Given the description of an element on the screen output the (x, y) to click on. 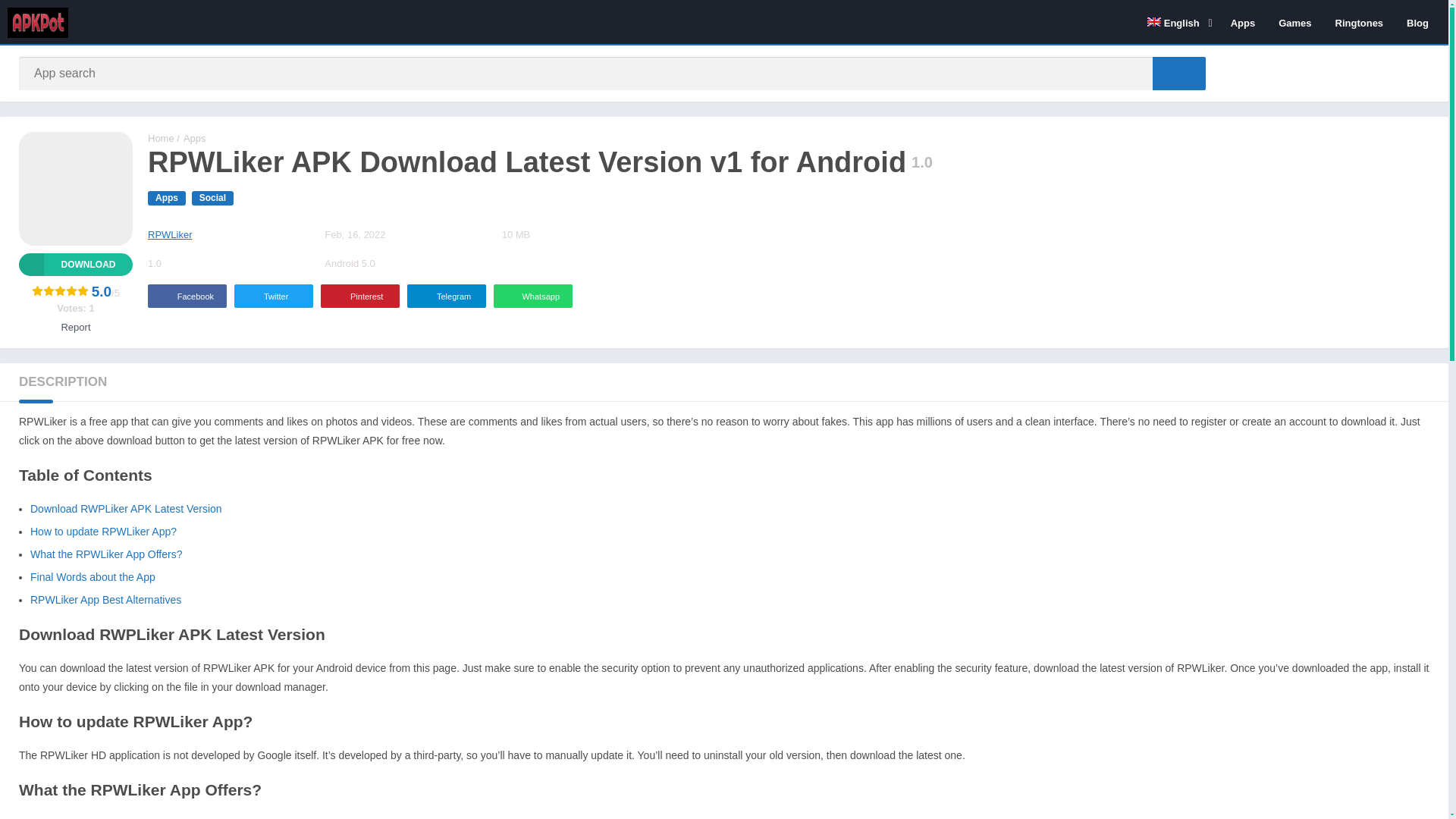
DOWNLOAD (75, 264)
English (1176, 22)
Social (212, 197)
Apps (167, 197)
Telegram (446, 295)
Home (161, 138)
Apps (194, 138)
How to update RPWLiker App? (103, 531)
Facebook (187, 295)
Download RWPLiker APK Latest Version (126, 508)
English (1176, 22)
Pinterest (359, 295)
Download (75, 264)
App search (1179, 73)
Blog (1416, 22)
